Given the description of an element on the screen output the (x, y) to click on. 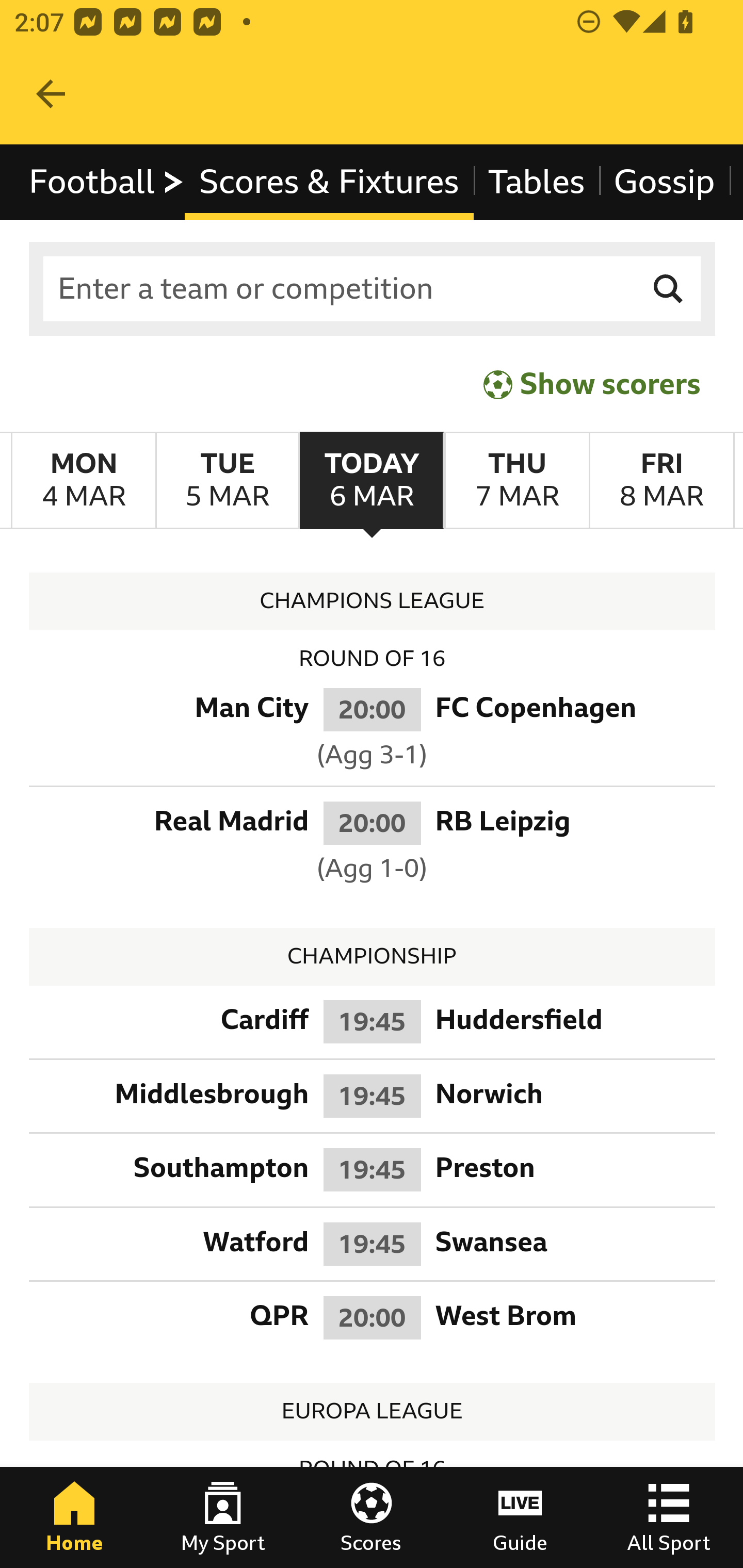
Navigate up (50, 93)
Football  (106, 181)
Scores & Fixtures (329, 181)
Tables (536, 181)
Gossip (664, 181)
Search (669, 289)
Show scorers (591, 383)
MondayMarch 4th Monday March 4th (83, 480)
TuesdayMarch 5th Tuesday March 5th (227, 480)
ThursdayMarch 7th Thursday March 7th (516, 480)
FridayMarch 8th Friday March 8th (661, 480)
My Sport (222, 1517)
Scores (371, 1517)
Guide (519, 1517)
All Sport (668, 1517)
